Given the description of an element on the screen output the (x, y) to click on. 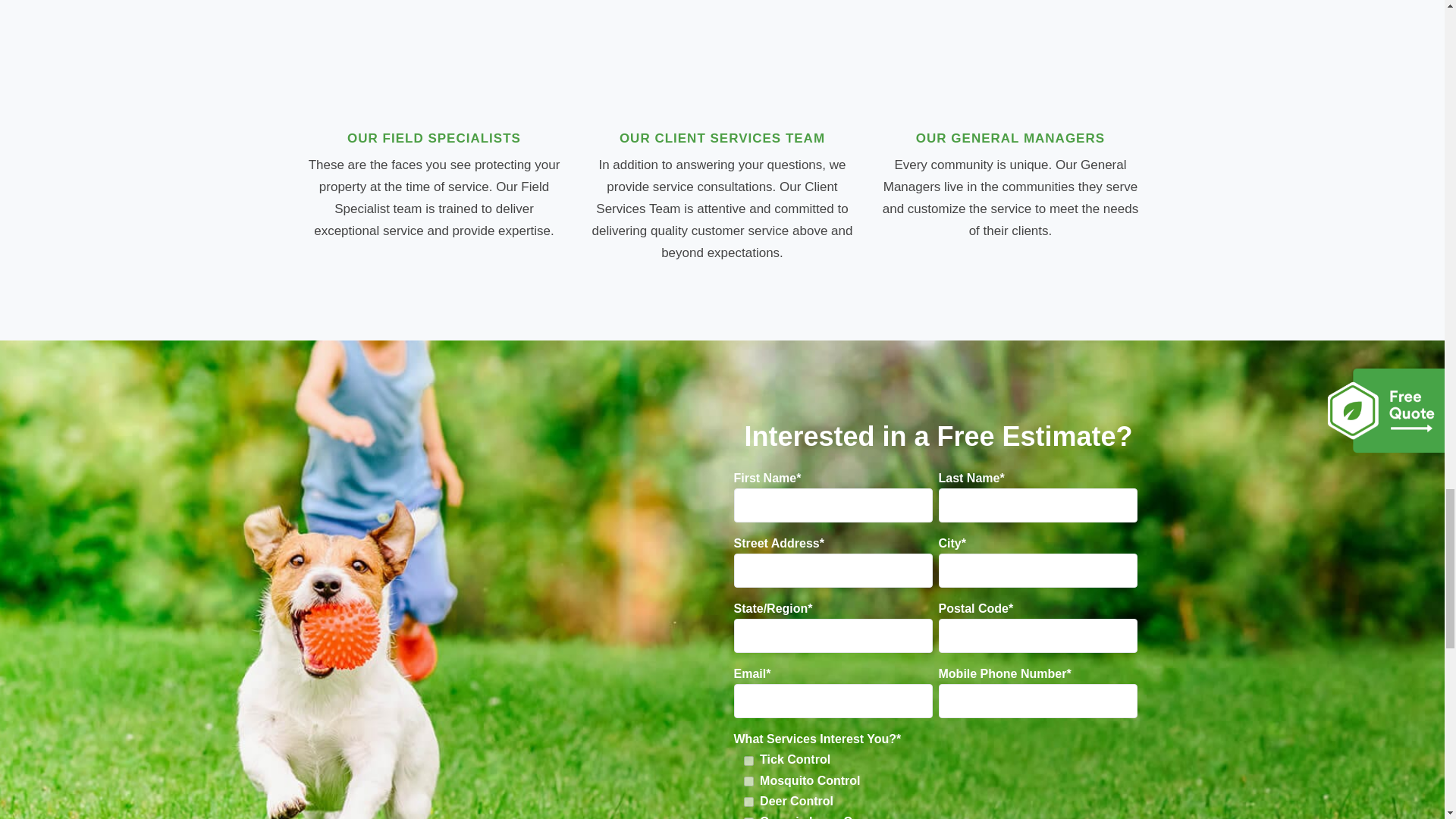
Mosquito Control (749, 781)
field-specialists-rep (433, 51)
Tick Control (749, 760)
general-managers-rep (1010, 51)
Deer Control (749, 801)
